Given the description of an element on the screen output the (x, y) to click on. 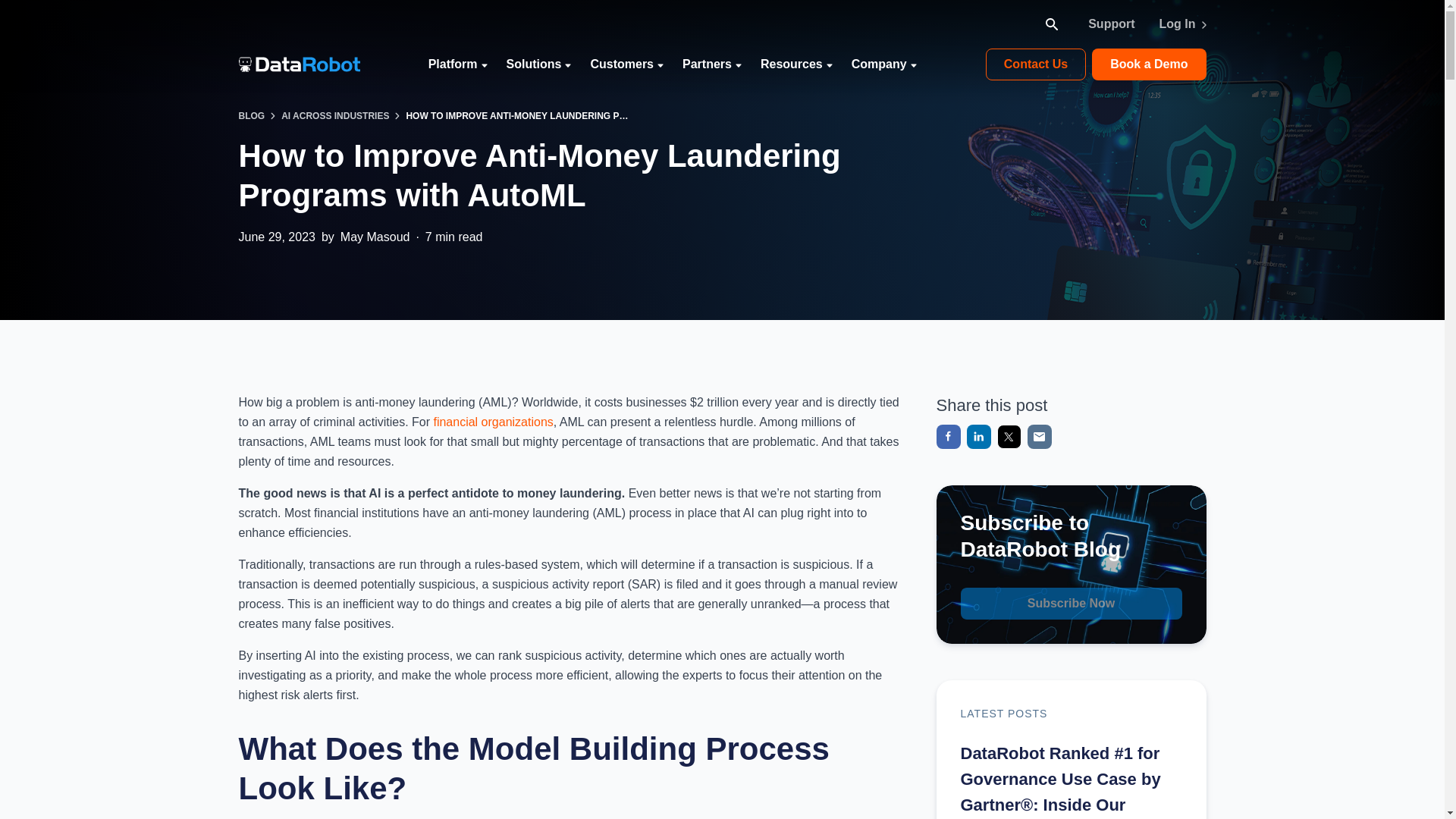
Customers (626, 64)
DataRobot (298, 64)
Solutions (538, 64)
Platform (458, 64)
Support (1110, 24)
Log In (1182, 24)
How to Improve Anti-Money Laundering Programs with AutoML (517, 116)
